Given the description of an element on the screen output the (x, y) to click on. 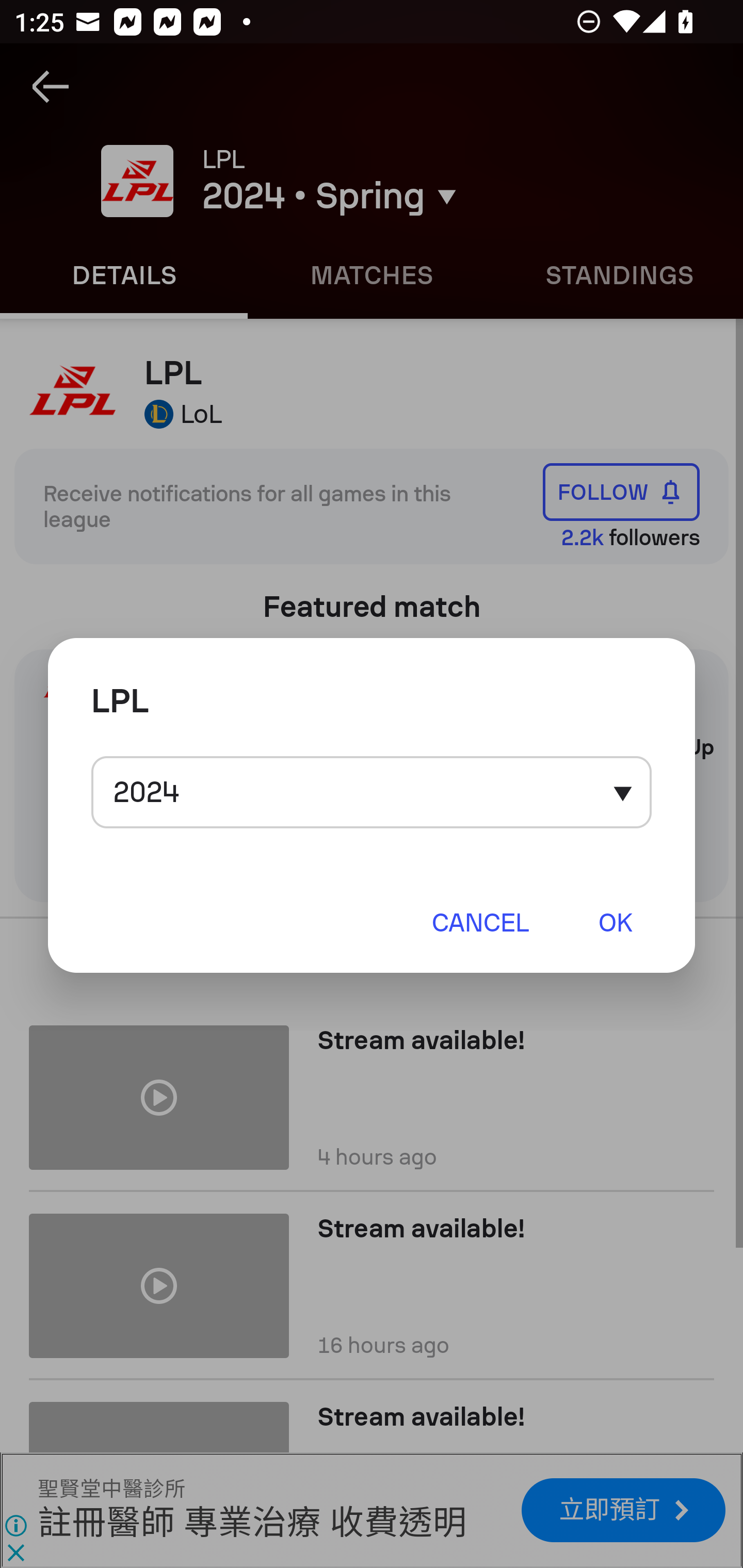
2024 (371, 791)
CANCEL (479, 922)
OK (615, 922)
